Given the description of an element on the screen output the (x, y) to click on. 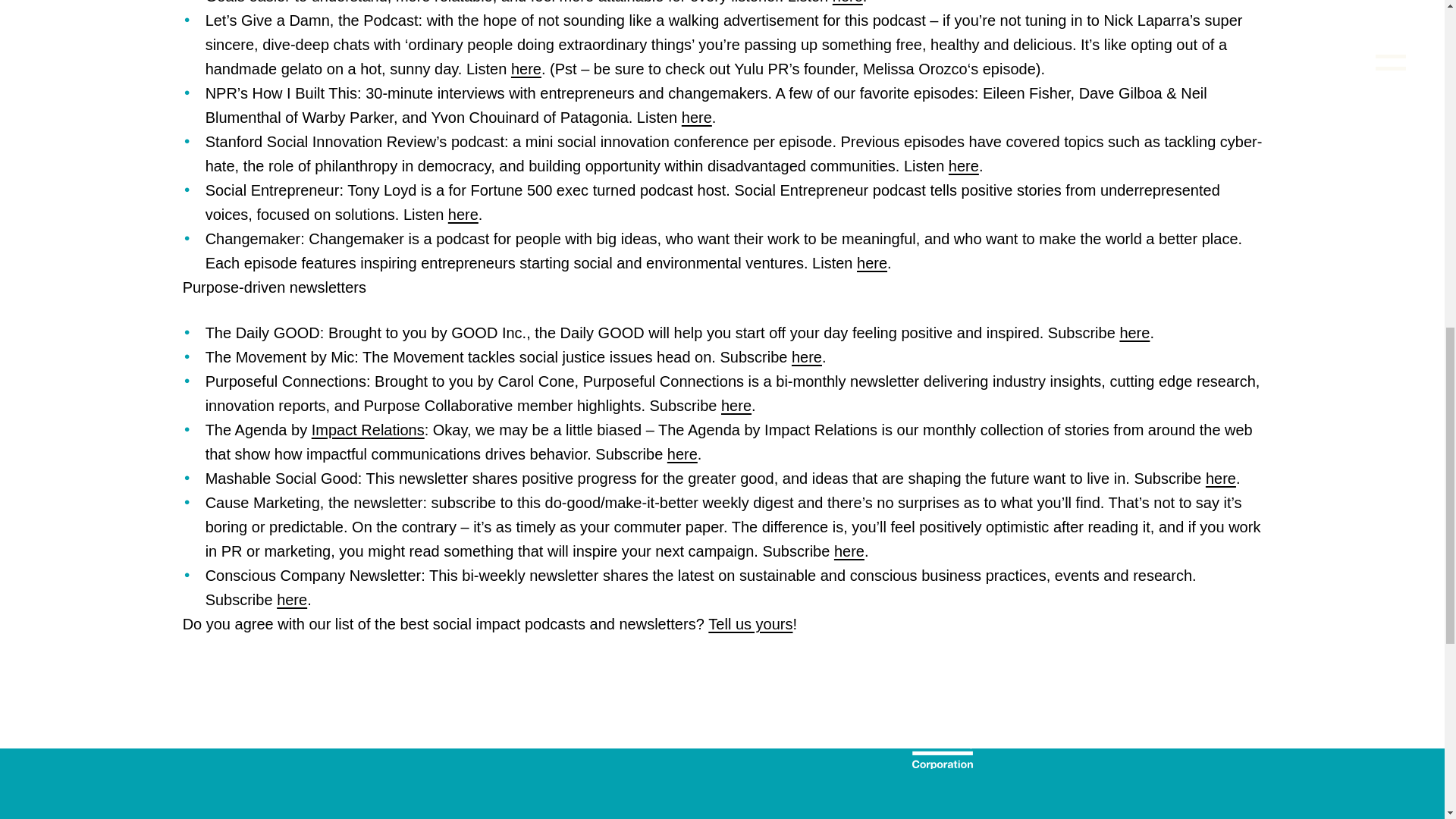
here (696, 117)
here (735, 405)
Impact Relations (368, 429)
here (291, 599)
here (1134, 332)
here (847, 2)
Tell us yours (749, 623)
here (871, 262)
here (849, 550)
here (463, 214)
here (526, 68)
here (1220, 478)
here (807, 356)
here (681, 453)
here (963, 166)
